Given the description of an element on the screen output the (x, y) to click on. 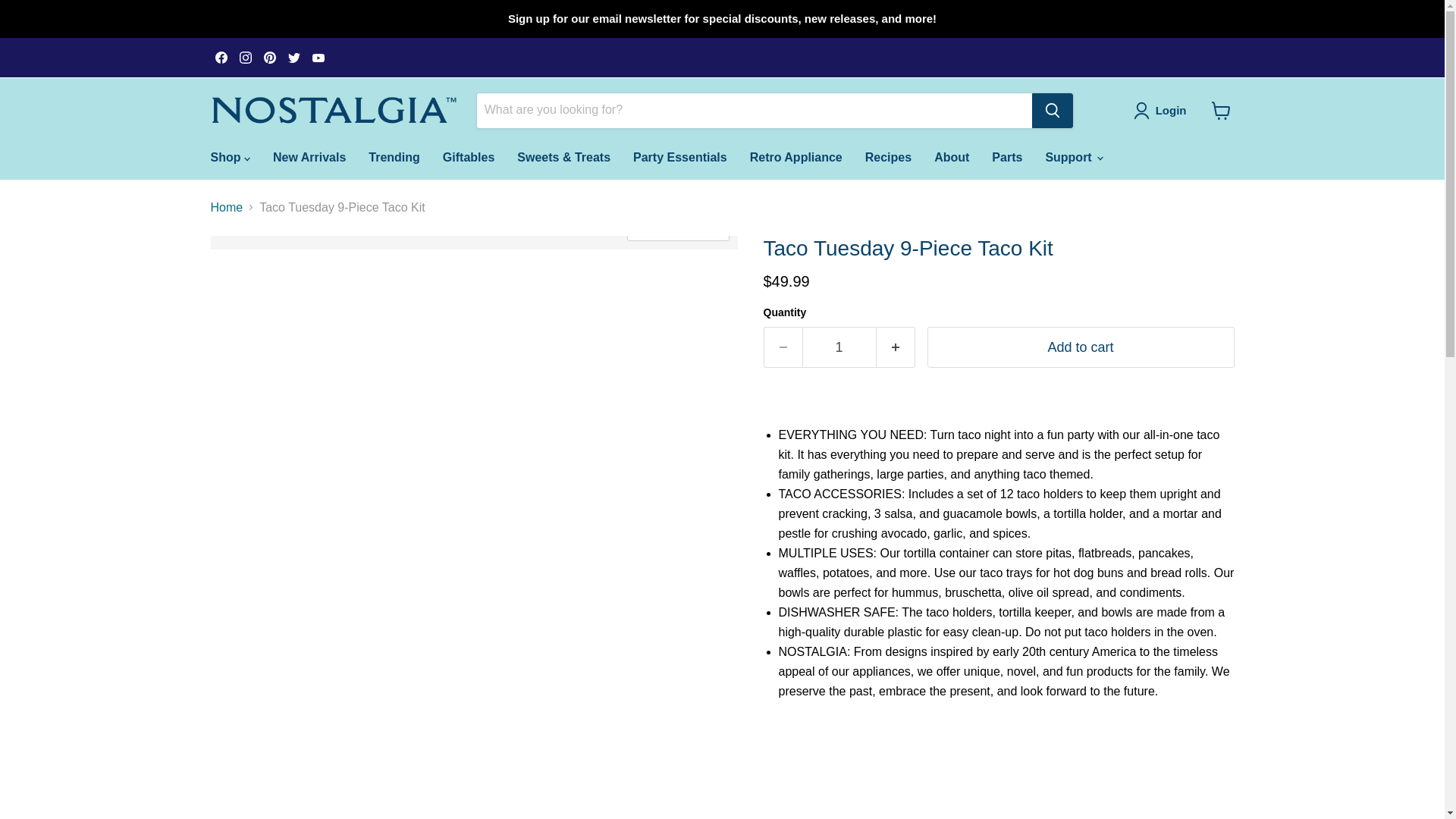
YouTube (318, 56)
Find us on Facebook (221, 56)
Find us on Pinterest (270, 56)
Twitter (293, 56)
View cart (1221, 110)
Pinterest (270, 56)
1 (839, 347)
Find us on Twitter (293, 56)
Find us on YouTube (318, 56)
Instagram (245, 56)
